Given the description of an element on the screen output the (x, y) to click on. 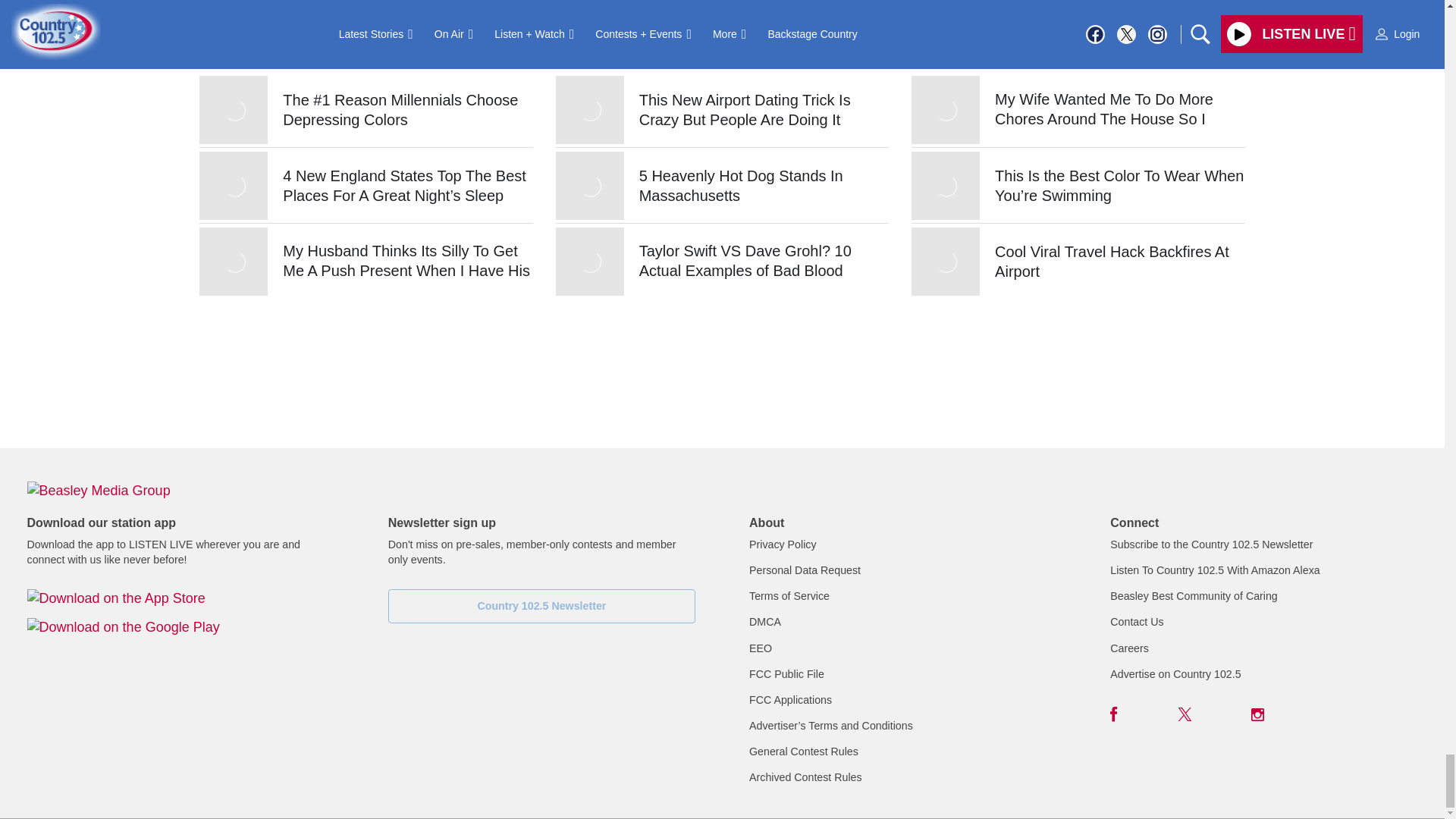
Instagram (1256, 714)
Twitter (1184, 714)
